Given the description of an element on the screen output the (x, y) to click on. 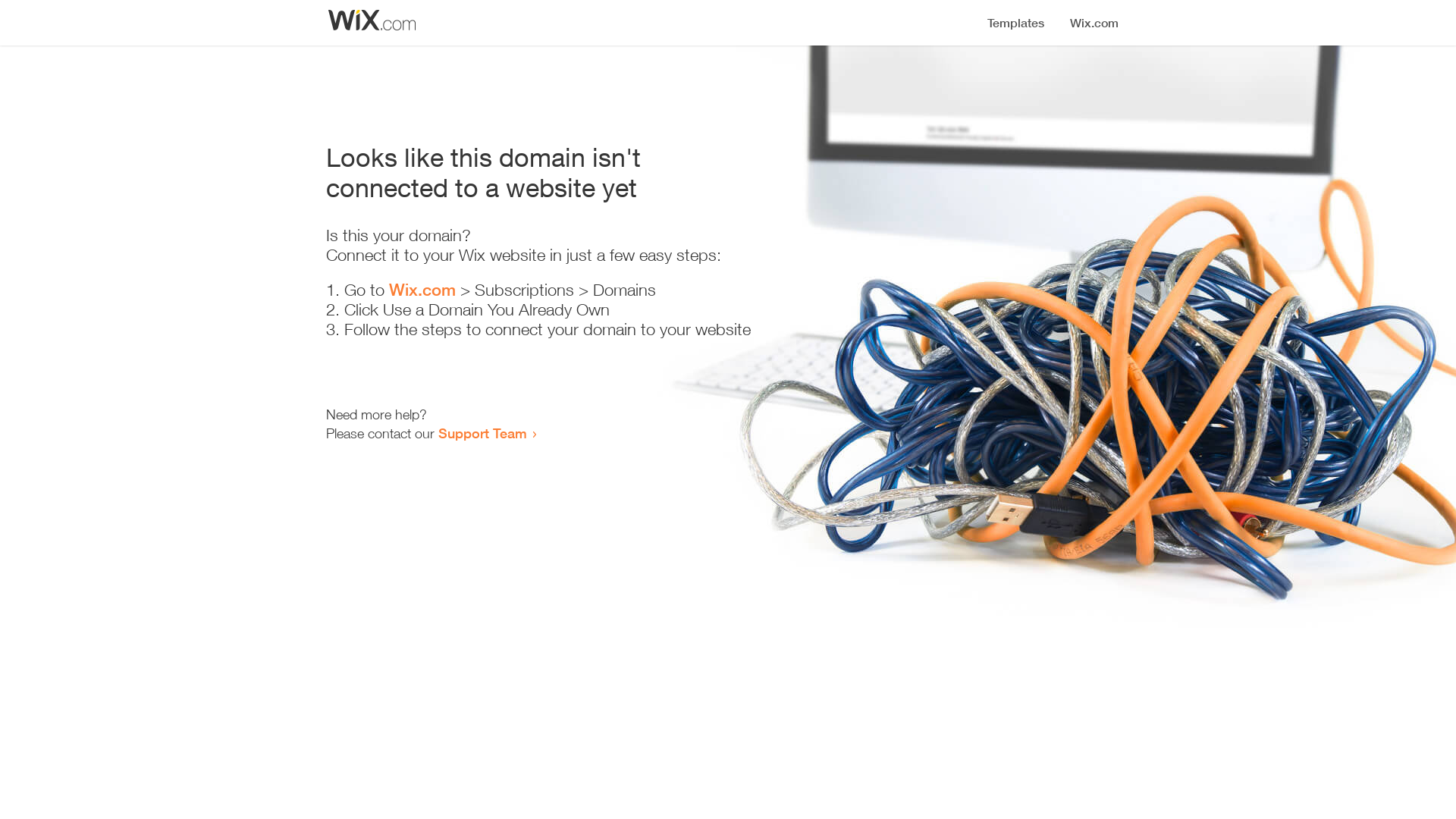
Support Team Element type: text (482, 432)
Wix.com Element type: text (422, 289)
